Given the description of an element on the screen output the (x, y) to click on. 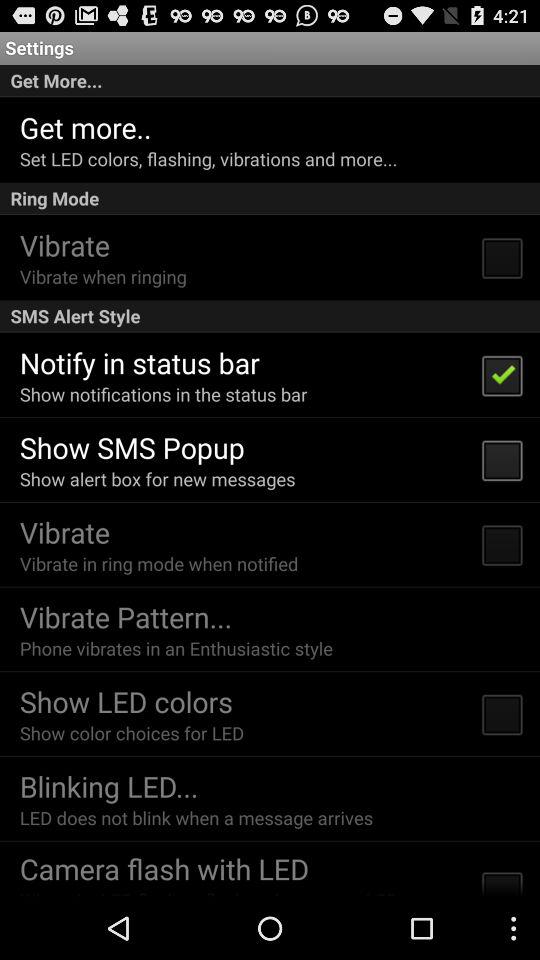
click the camera flash with (164, 868)
